Given the description of an element on the screen output the (x, y) to click on. 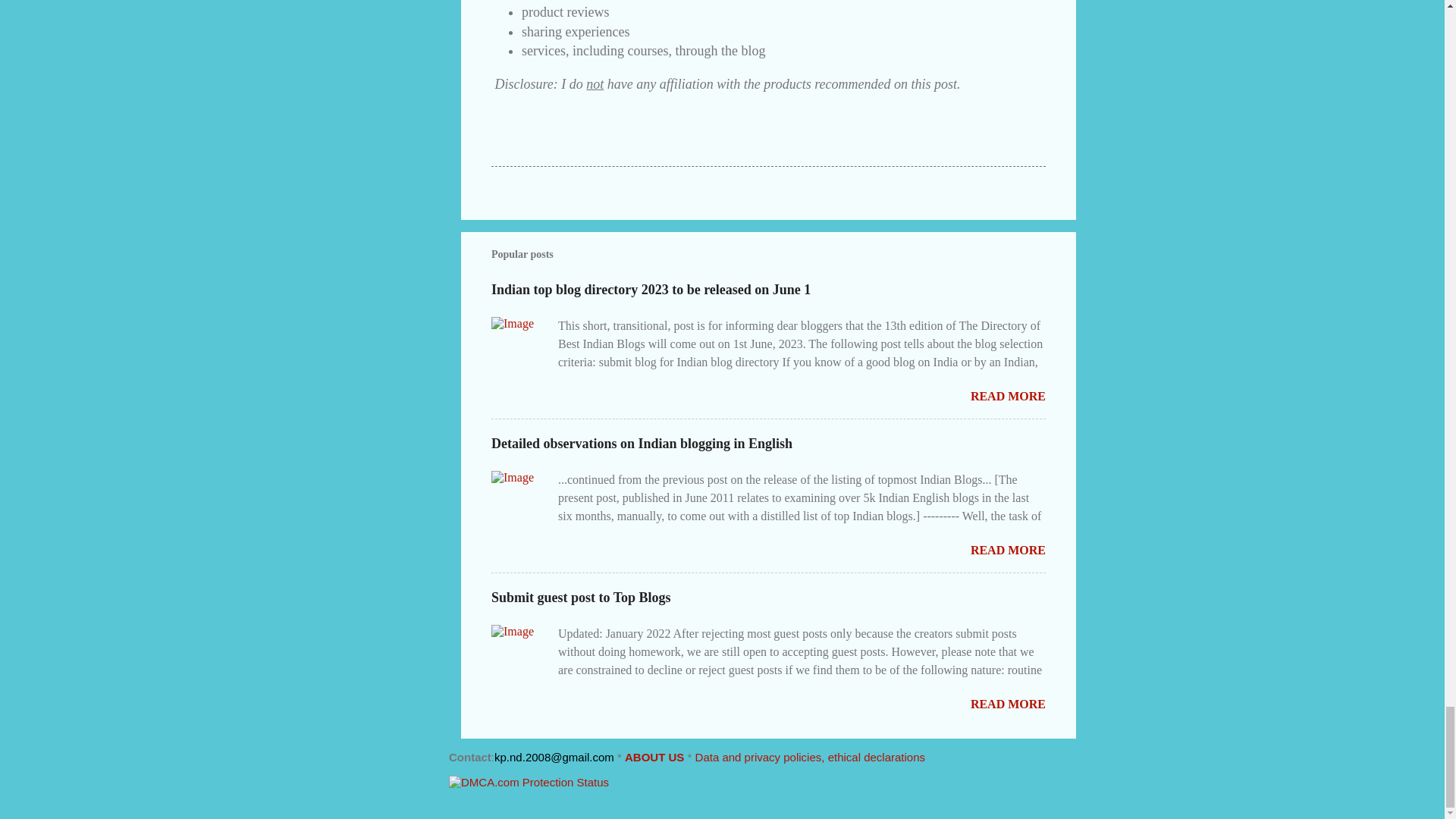
Detailed observations on Indian blogging in English (642, 443)
Submit guest post to Top Blogs (1008, 703)
Submit guest post to Top Blogs (581, 597)
Detailed observations on Indian blogging in English (1008, 549)
READ MORE (1008, 549)
Indian top blog directory 2023 to be released on June 1 (651, 289)
READ MORE (1008, 395)
Indian top blog directory 2023 to be released on June 1 (1008, 395)
Email Post (530, 137)
